Given the description of an element on the screen output the (x, y) to click on. 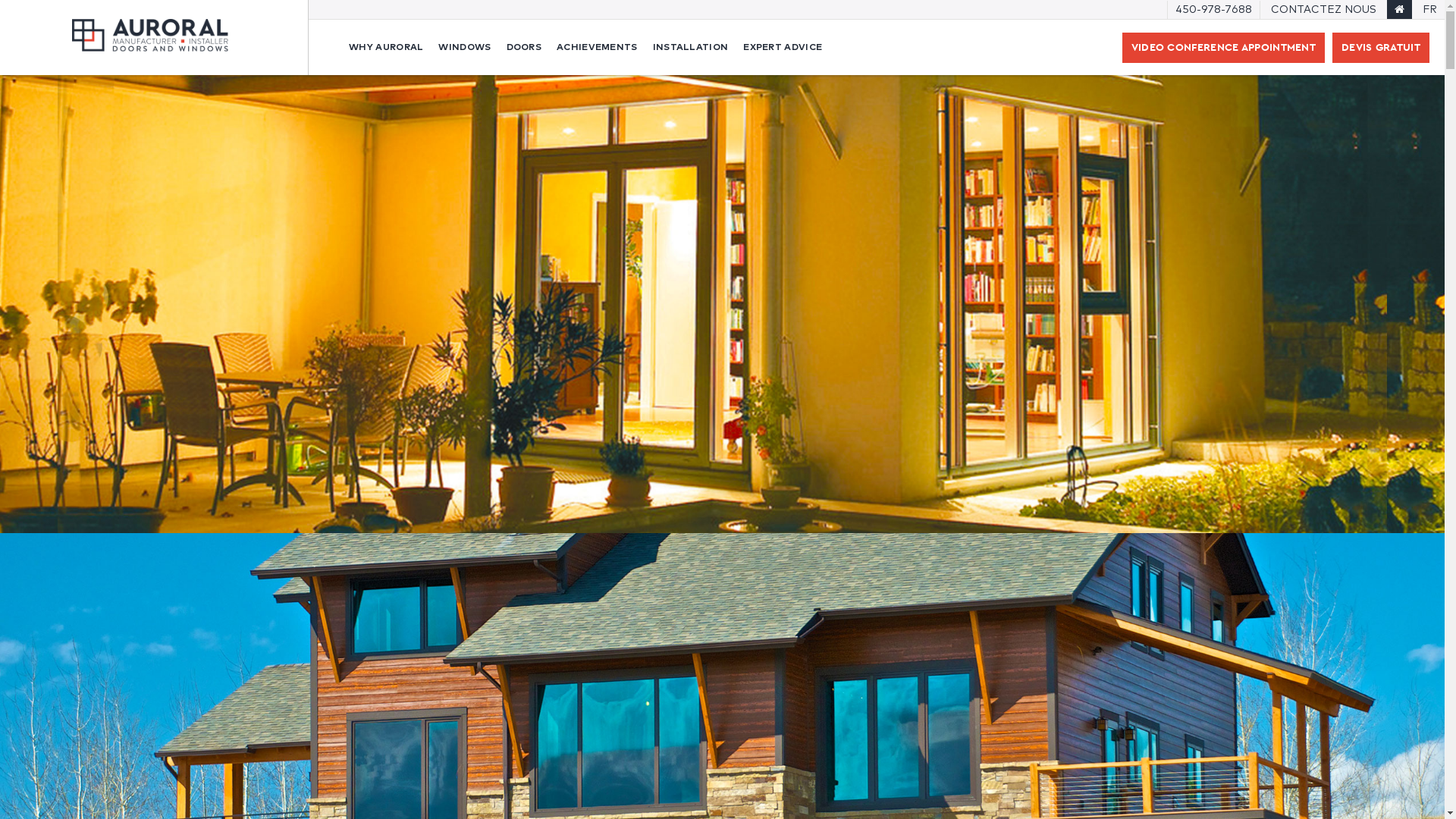
CONTACTEZ NOUS Element type: text (1323, 9)
VIDEO CONFERENCE APPOINTMENT Element type: text (1223, 46)
WHY AURORAL Element type: text (385, 46)
WINDOWS Element type: text (464, 46)
EXPERT ADVICE Element type: text (782, 46)
DEVIS GRATUIT Element type: text (1380, 46)
DOORS Element type: text (524, 46)
ACHIEVEMENTS Element type: text (596, 46)
450-978-7688 Element type: text (1213, 9)
INSTALLATION Element type: text (690, 46)
FR Element type: text (1429, 9)
